Given the description of an element on the screen output the (x, y) to click on. 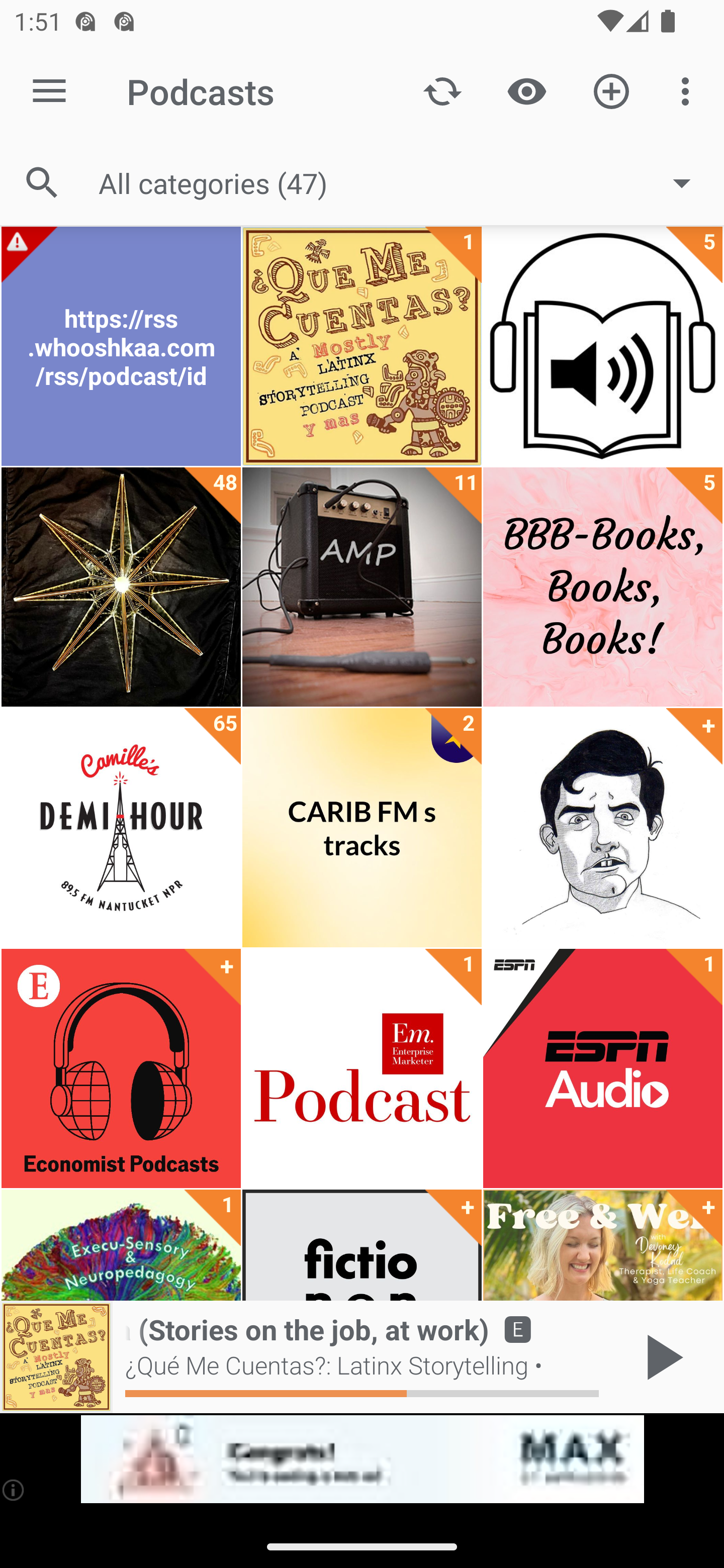
Open navigation sidebar (49, 91)
Update (442, 90)
Show / Hide played content (526, 90)
Add new Podcast (611, 90)
More options (688, 90)
Search (42, 183)
All categories (47) (404, 182)
https://rss.whooshkaa.com/rss/podcast/id/5884 (121, 346)
¿Qué Me Cuentas?: Latinx Storytelling 1 (361, 346)
Audiobooks 5 (602, 346)
Audiobooks 48 (121, 587)
Australian Music Podcasts 11 (361, 587)
BBB-Books, Books, Books! 5 (602, 587)
Camille's Demi-Hour - NANTUCKET NPR 65 (121, 827)
CARIB FM's tracks 2 (361, 827)
Cooking Issues with Dave Arnold + (602, 827)
Economist Podcasts + (121, 1068)
Enterprise Marketer Podcast - Conference 1 (361, 1068)
ESPN Audio 1 (602, 1068)
Play / Pause (660, 1356)
app-monetization (362, 1459)
(i) (14, 1489)
